Given the description of an element on the screen output the (x, y) to click on. 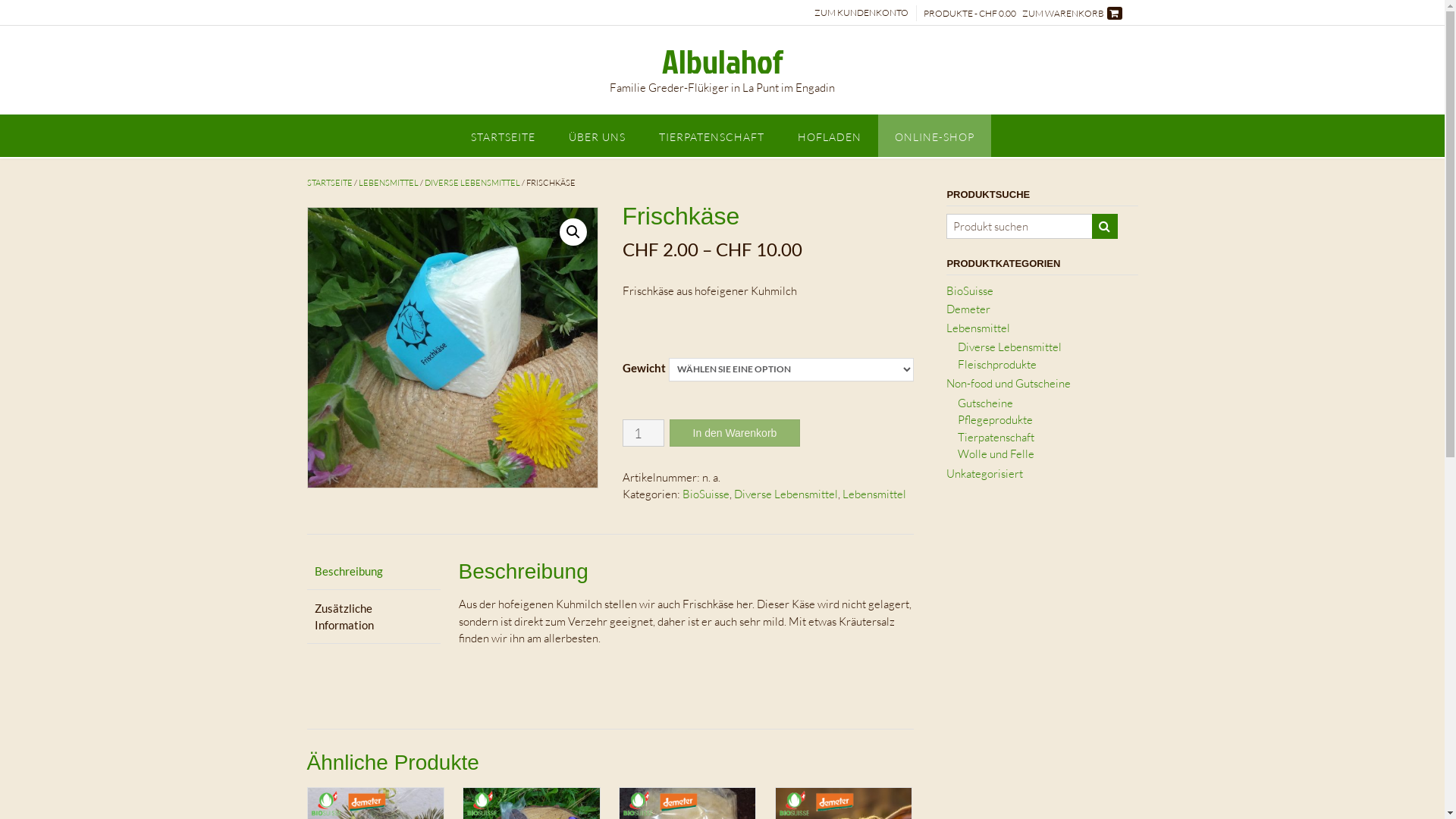
BioSuisse Element type: text (705, 493)
Albulahof Element type: text (721, 61)
STARTSEITE Element type: text (328, 182)
ZUM KUNDENKONTO Element type: text (860, 12)
Lebensmittel Element type: text (978, 327)
Diverse Lebensmittel Element type: text (785, 493)
Search for: Element type: hover (1019, 225)
BioSuisse Element type: text (969, 290)
Non-food und Gutscheine Element type: text (1008, 383)
STARTSEITE Element type: text (502, 134)
Lebensmittel Element type: text (874, 493)
ONLINE-SHOP Element type: text (934, 134)
Unkategorisiert Element type: text (984, 472)
HOFLADEN Element type: text (829, 134)
DSC05668 Element type: hover (452, 347)
Diverse Lebensmittel Element type: text (1009, 346)
Pflegeprodukte Element type: text (994, 419)
LEBENSMITTEL Element type: text (387, 182)
Demeter Element type: text (968, 308)
Wolle und Felle Element type: text (995, 453)
Fleischprodukte Element type: text (996, 363)
In den Warenkorb Element type: text (734, 432)
Beschreibung Element type: text (372, 571)
TIERPATENSCHAFT Element type: text (710, 134)
DIVERSE LEBENSMITTEL Element type: text (472, 182)
Tierpatenschaft Element type: text (995, 436)
Gutscheine Element type: text (985, 402)
PRODUKTE - CHF 0.00 ZUM WARENKORB Element type: text (1022, 12)
